Given the description of an element on the screen output the (x, y) to click on. 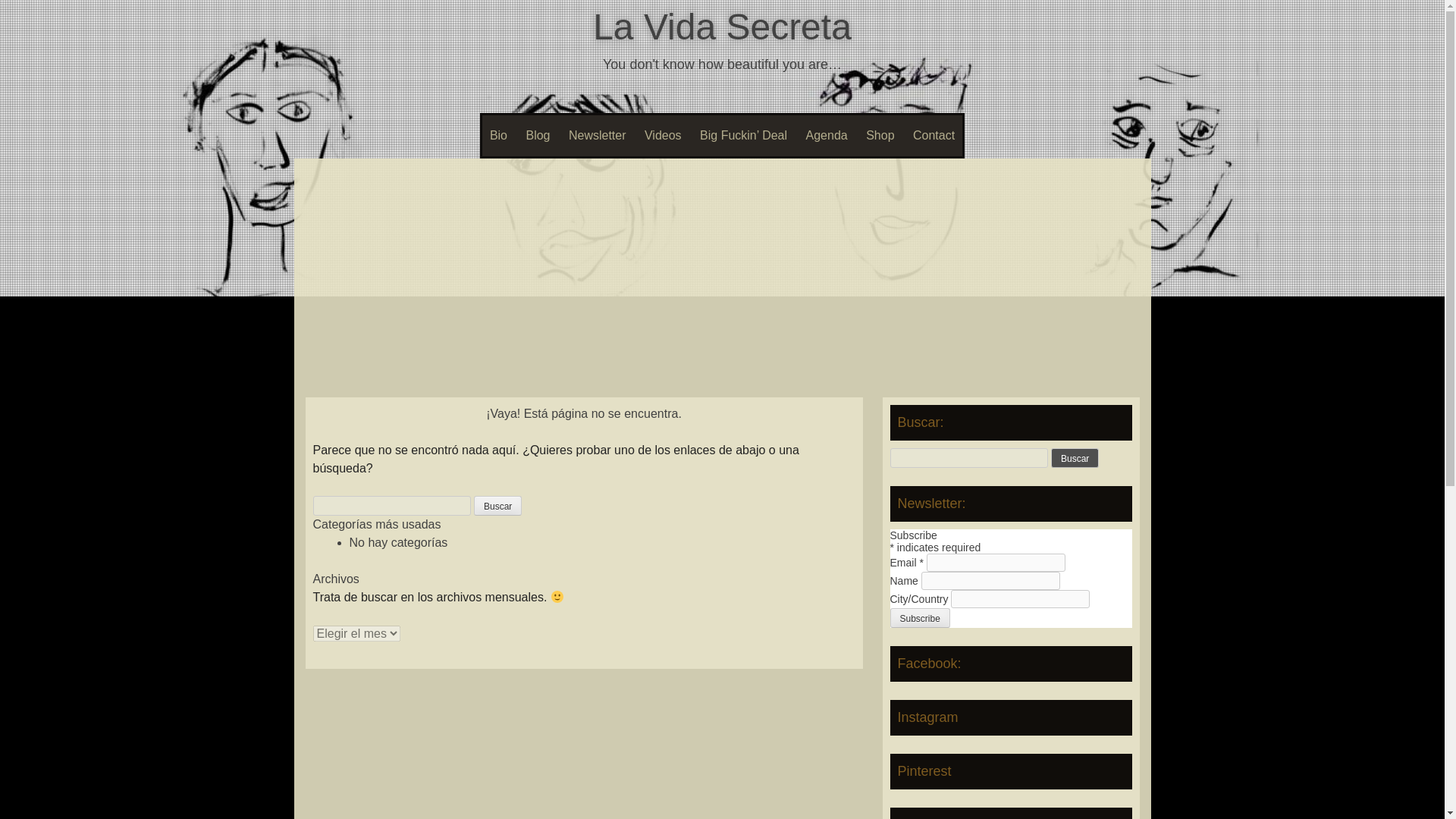
Buscar (1075, 457)
Buscar (497, 505)
Subscribe (919, 618)
Buscar (1075, 457)
Shop (880, 135)
Blog (537, 135)
Bio (498, 135)
Newsletter (596, 135)
La Vida Secreta (721, 26)
Contact (933, 135)
Videos (662, 135)
Agenda (826, 135)
Buscar (497, 505)
Subscribe (919, 618)
